Given the description of an element on the screen output the (x, y) to click on. 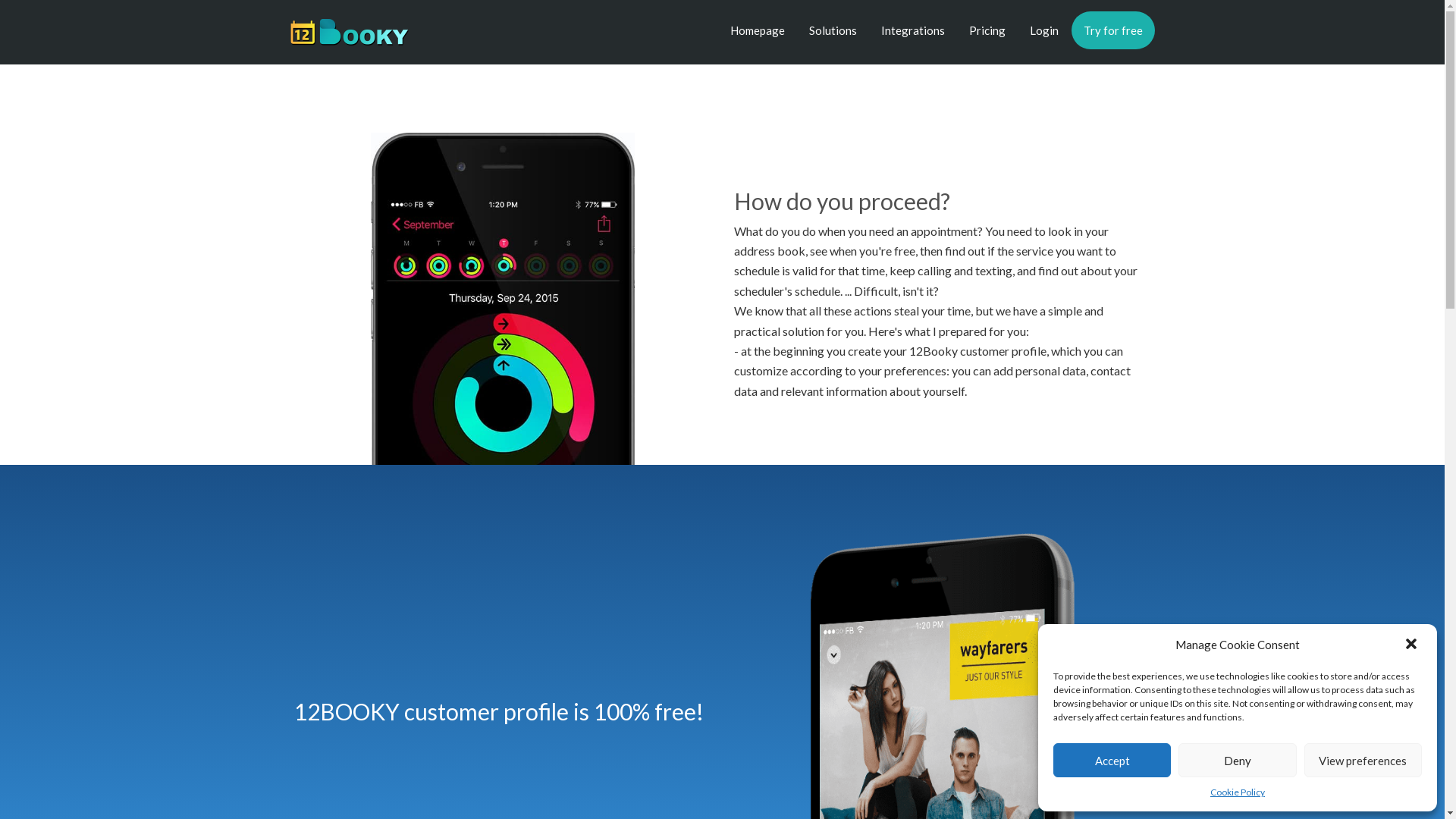
Deny Element type: text (1236, 760)
Homepage Element type: text (756, 30)
Solutions Element type: text (832, 30)
Cookie Policy Element type: text (1237, 792)
Accept Element type: text (1111, 760)
View preferences Element type: text (1362, 760)
Integrations Element type: text (912, 30)
Try for free Element type: text (1112, 30)
Login Element type: text (1043, 30)
Pricing Element type: text (987, 30)
